Given the description of an element on the screen output the (x, y) to click on. 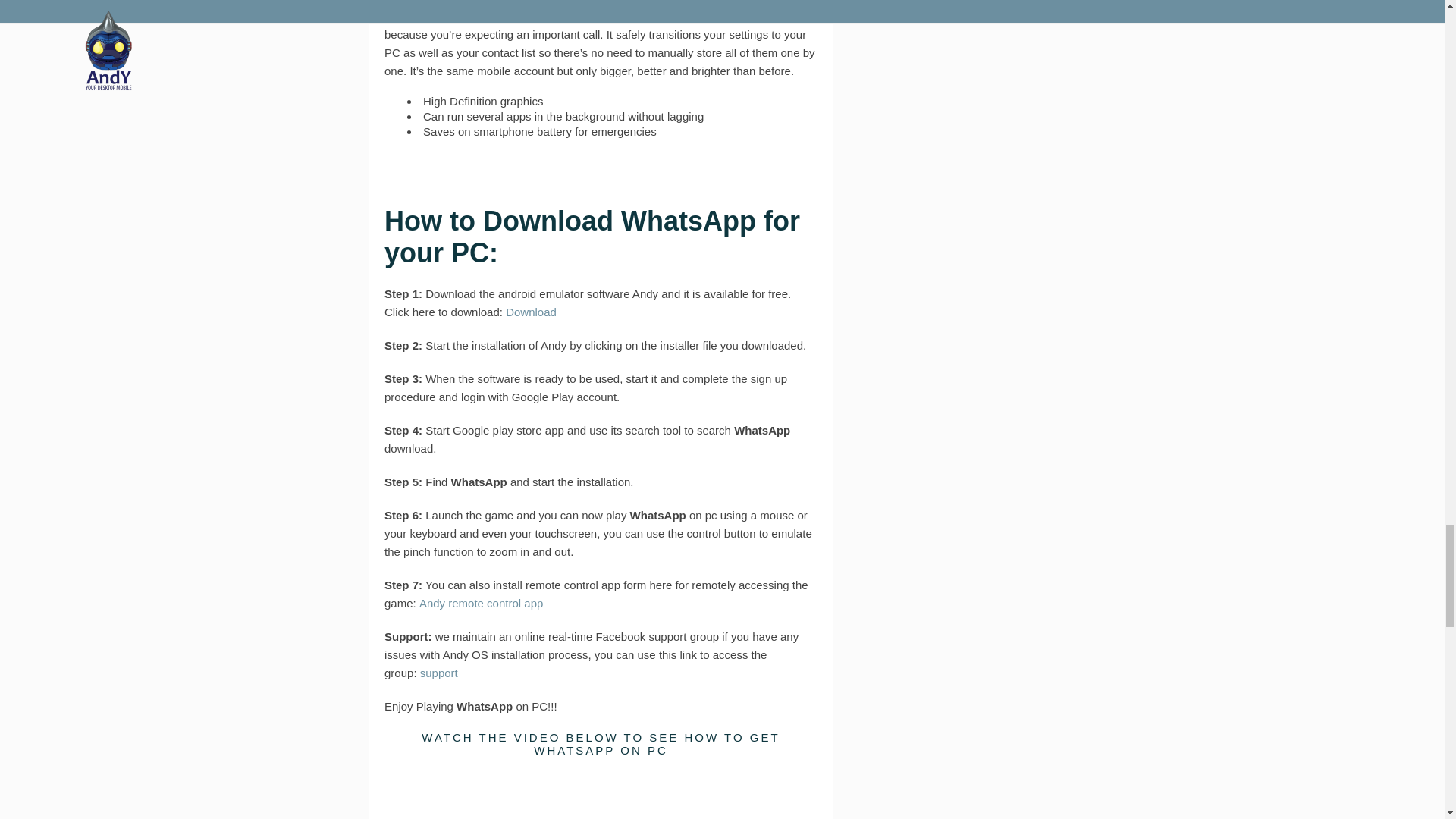
Download (530, 311)
Andy remote control app (481, 603)
support (439, 672)
